Given the description of an element on the screen output the (x, y) to click on. 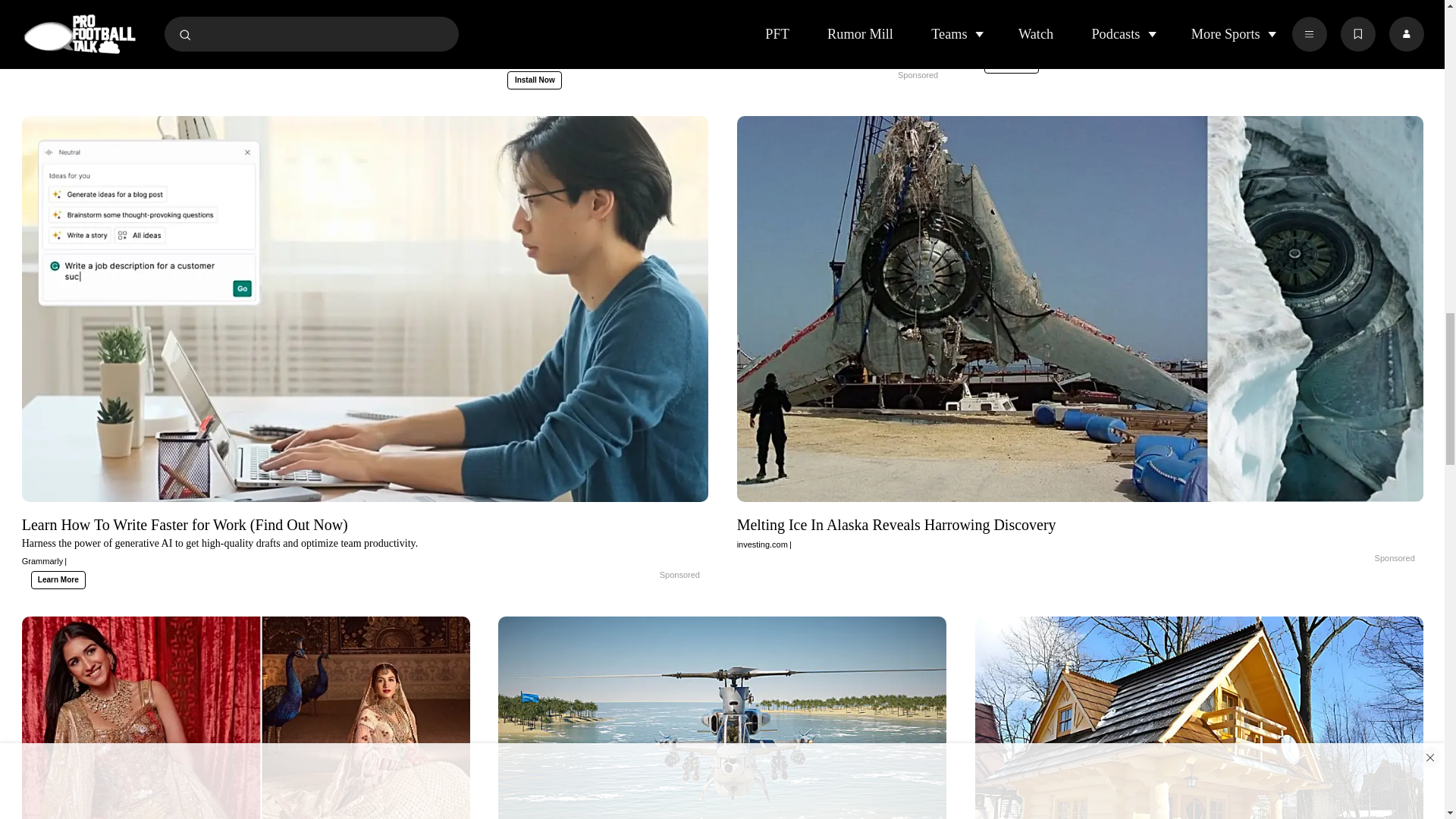
What is your writing missing? (721, 39)
What is your writing missing? (882, 75)
"Description: No Install. Play for free." (1199, 27)
